Given the description of an element on the screen output the (x, y) to click on. 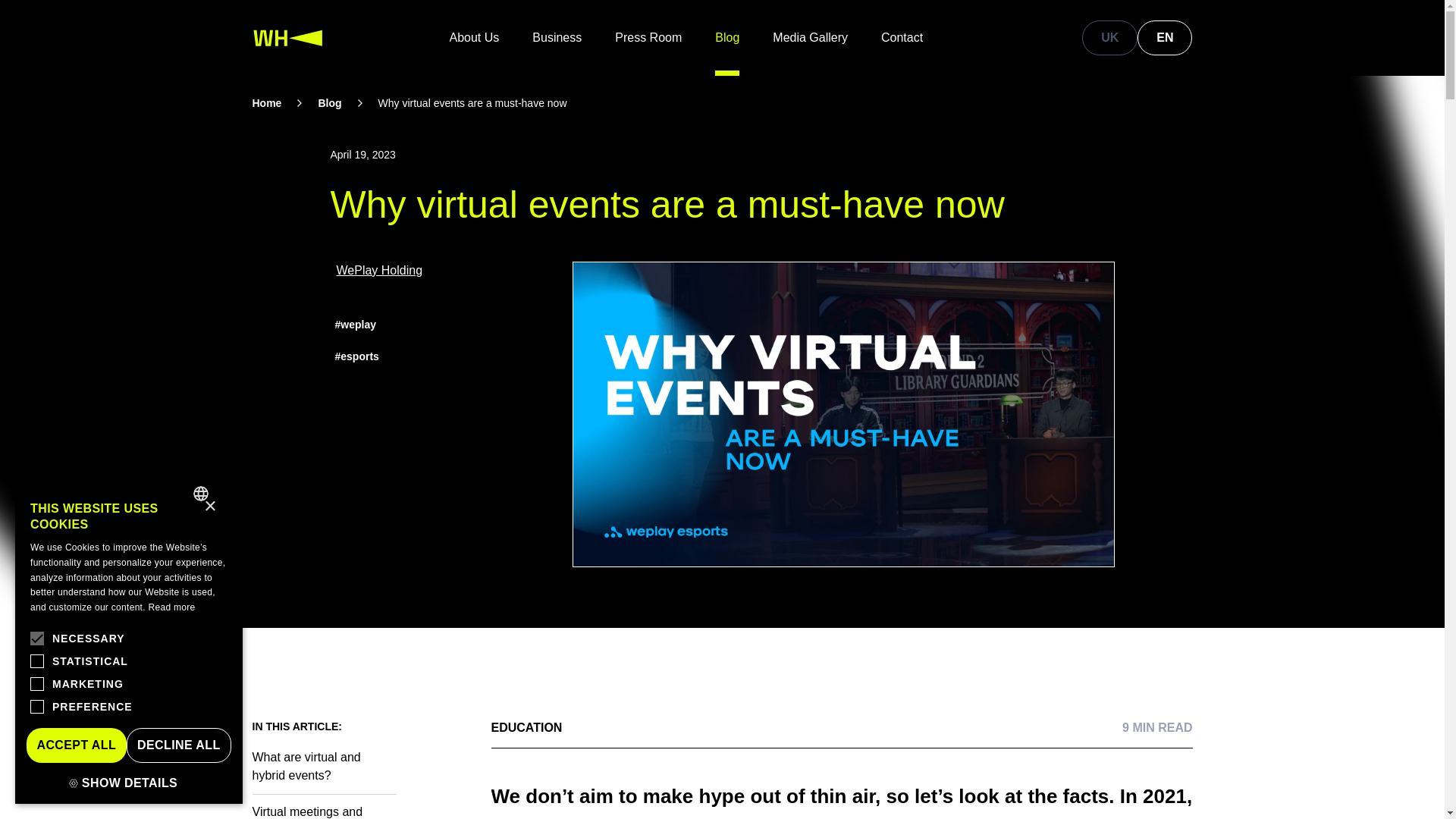
UK (1109, 37)
EDUCATION (527, 728)
Virtual meetings and events: the USP (323, 806)
Virtual meetings and events: the USP (323, 806)
Media Gallery (810, 38)
Home (266, 103)
What are virtual and hybrid events? (323, 766)
EN (1164, 37)
Blog (328, 103)
What are virtual and hybrid events? (323, 766)
Why virtual events are a must-have now (472, 103)
WePlay Holding (379, 270)
